Given the description of an element on the screen output the (x, y) to click on. 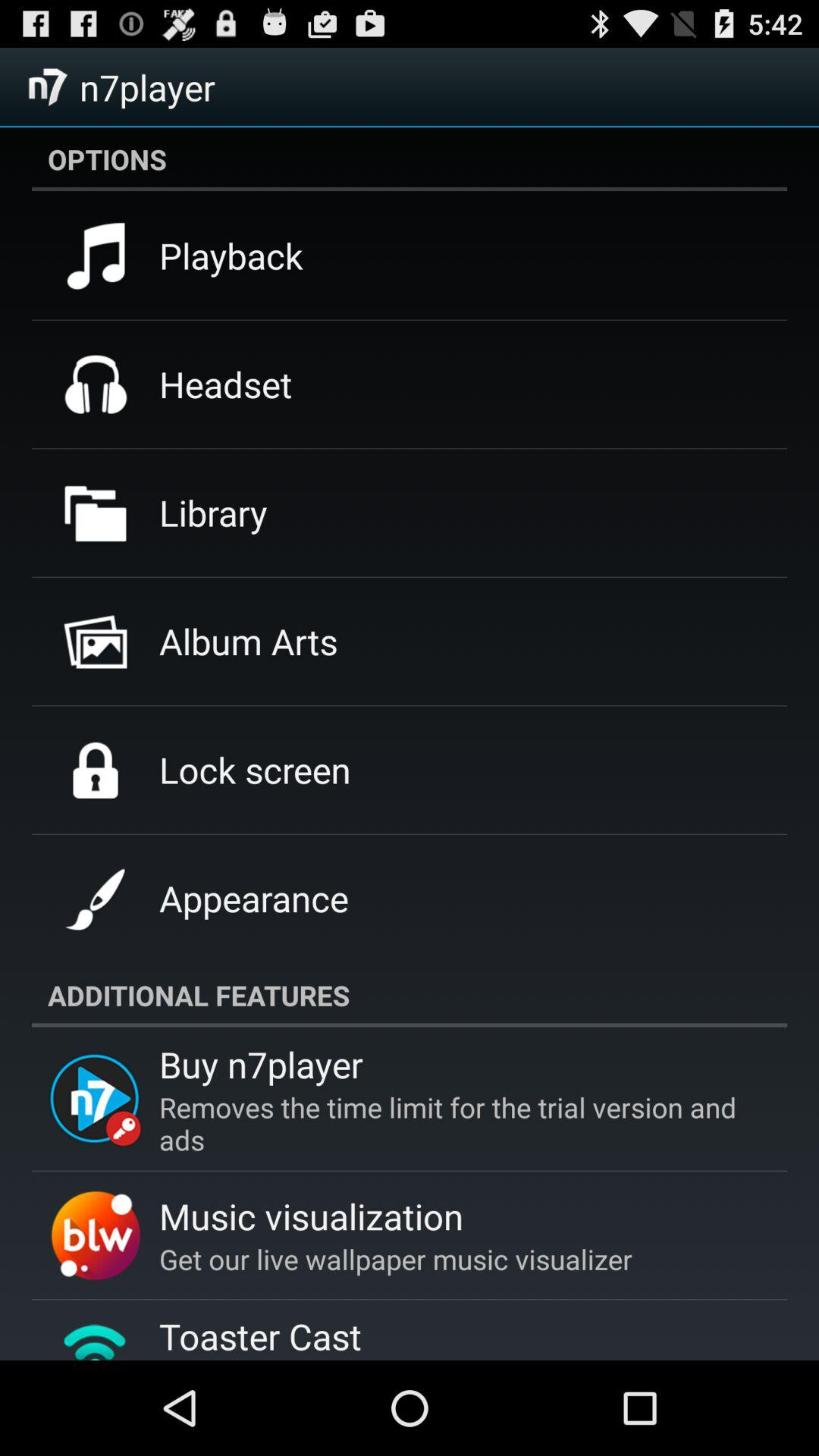
turn off additional features item (409, 995)
